Given the description of an element on the screen output the (x, y) to click on. 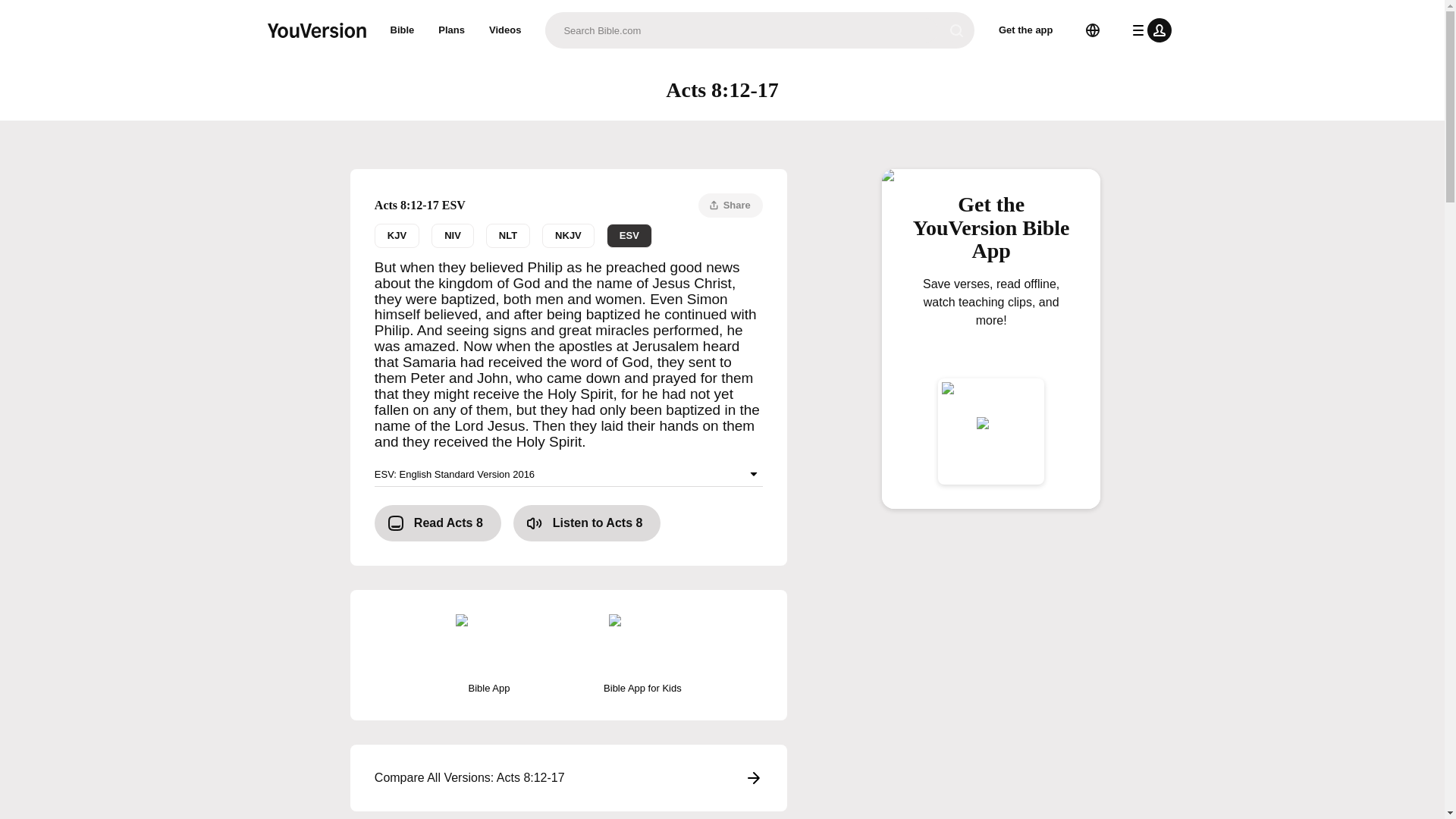
Listen to Acts 8 (587, 523)
Plans (451, 29)
NIV (452, 235)
Share (730, 205)
ESV: English Standard Version 2016 (568, 473)
NKJV (567, 235)
KJV (396, 235)
Compare All Versions: Acts 8:12-17 (568, 778)
Videos (504, 29)
ESV (629, 235)
